Given the description of an element on the screen output the (x, y) to click on. 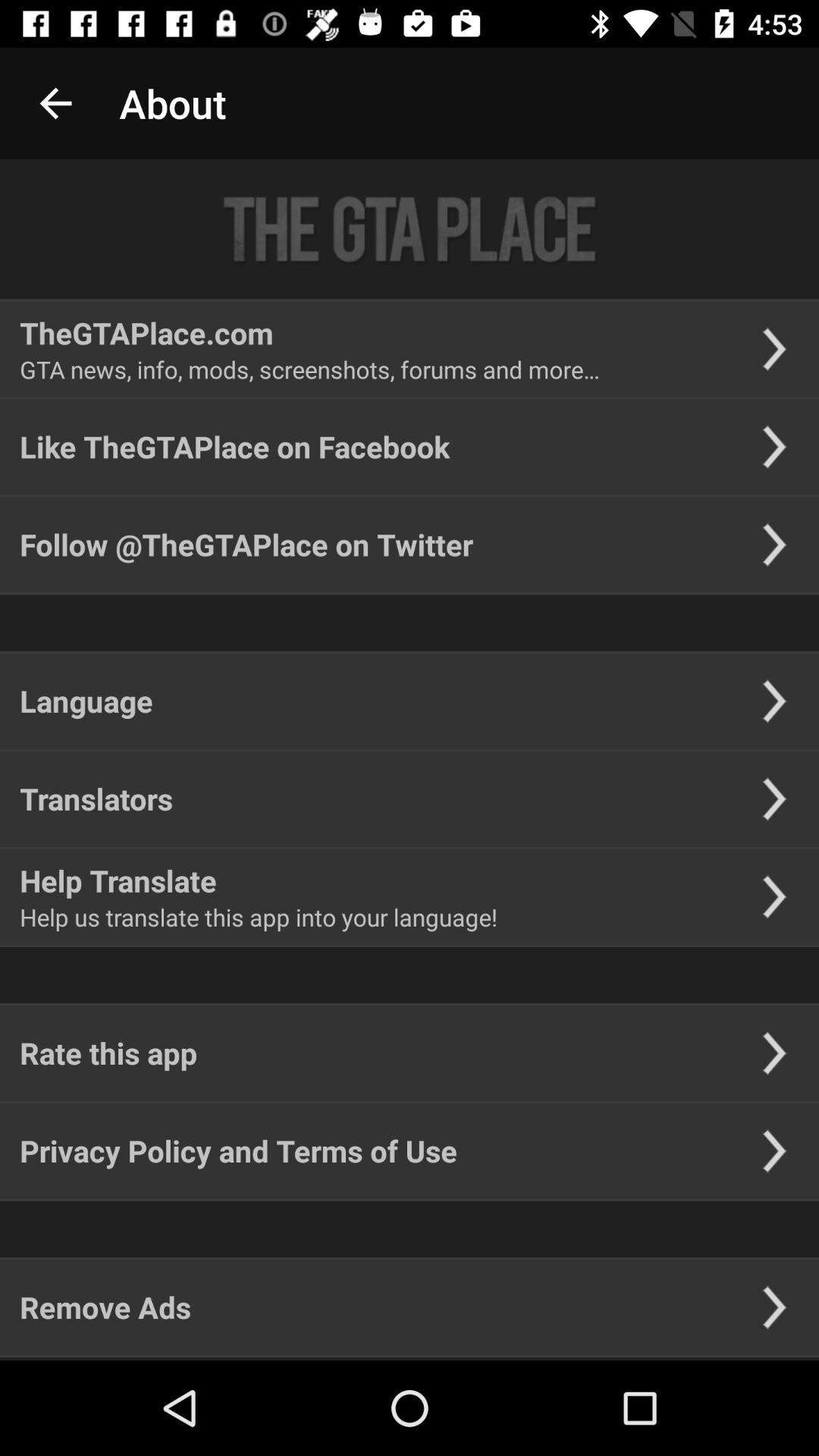
select translators (95, 798)
